Given the description of an element on the screen output the (x, y) to click on. 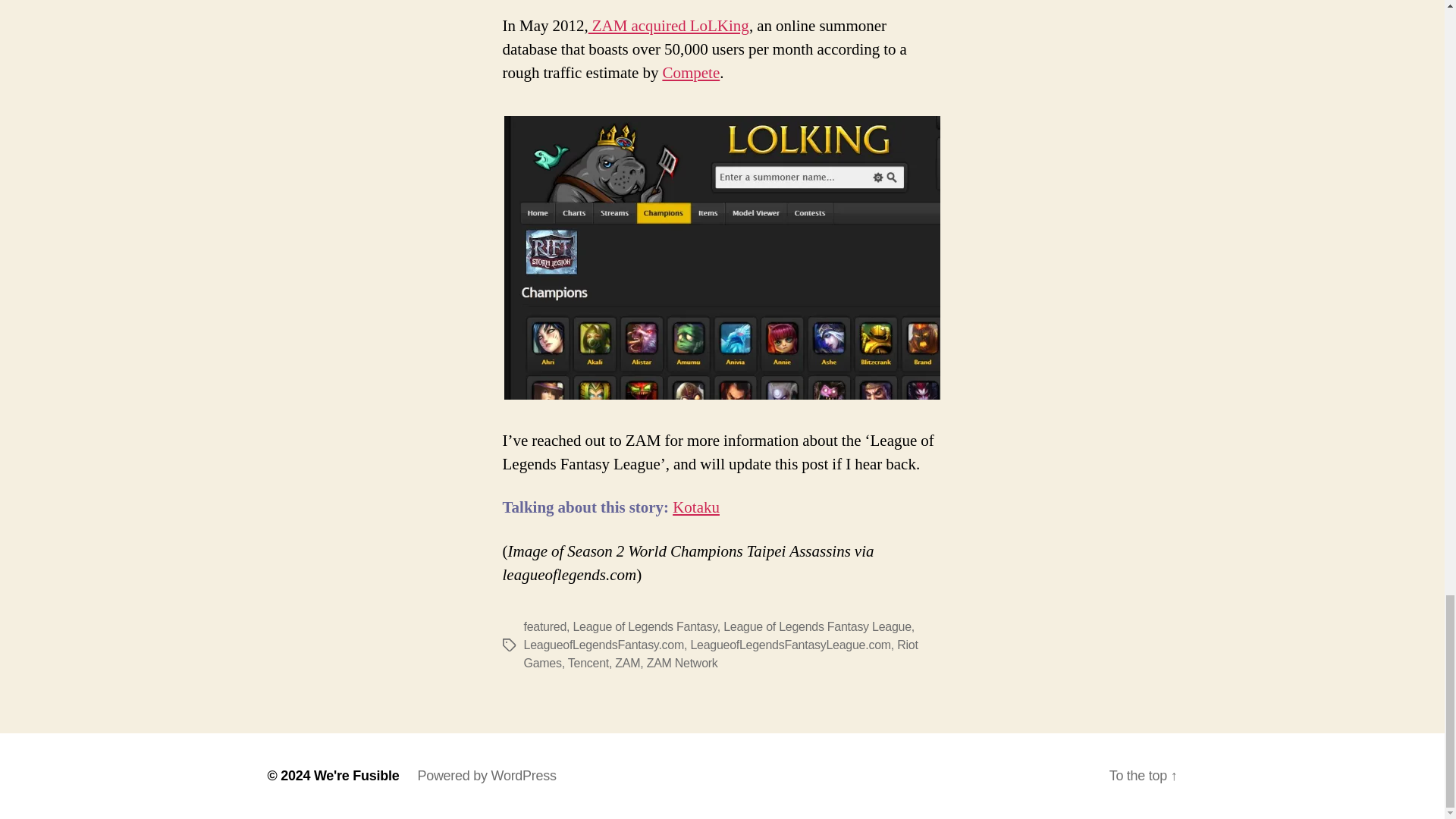
Kotaku (695, 507)
LoL King (721, 257)
Compete (690, 73)
LoLKing (668, 25)
